Given the description of an element on the screen output the (x, y) to click on. 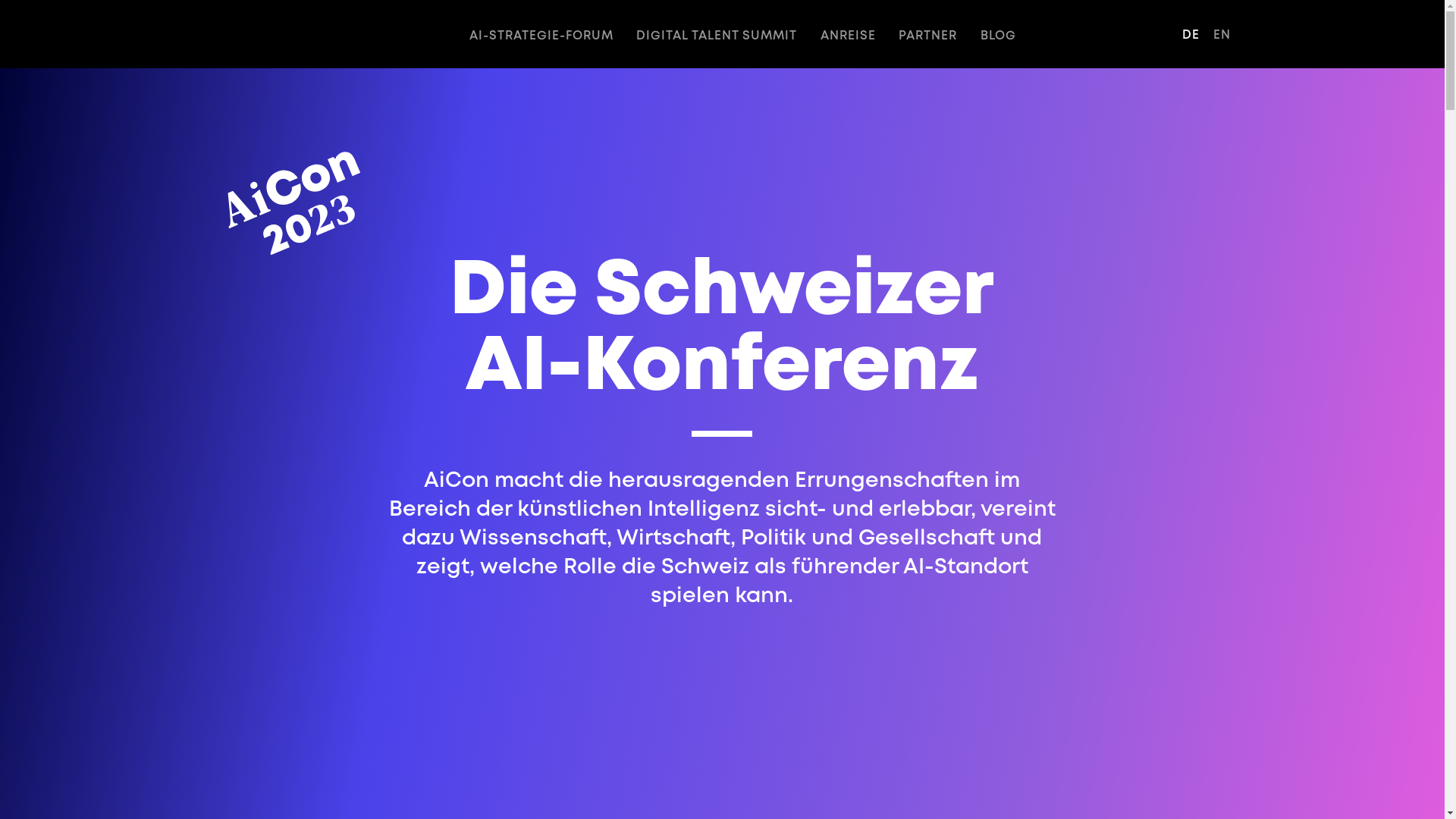
PARTNER Element type: text (927, 35)
ANREISE Element type: text (847, 35)
EN Element type: text (1221, 35)
DIGITAL TALENT SUMMIT Element type: text (716, 35)
BLOG Element type: text (998, 35)
AI-STRATEGIE-FORUM Element type: text (541, 35)
DE Element type: text (1189, 35)
